Given the description of an element on the screen output the (x, y) to click on. 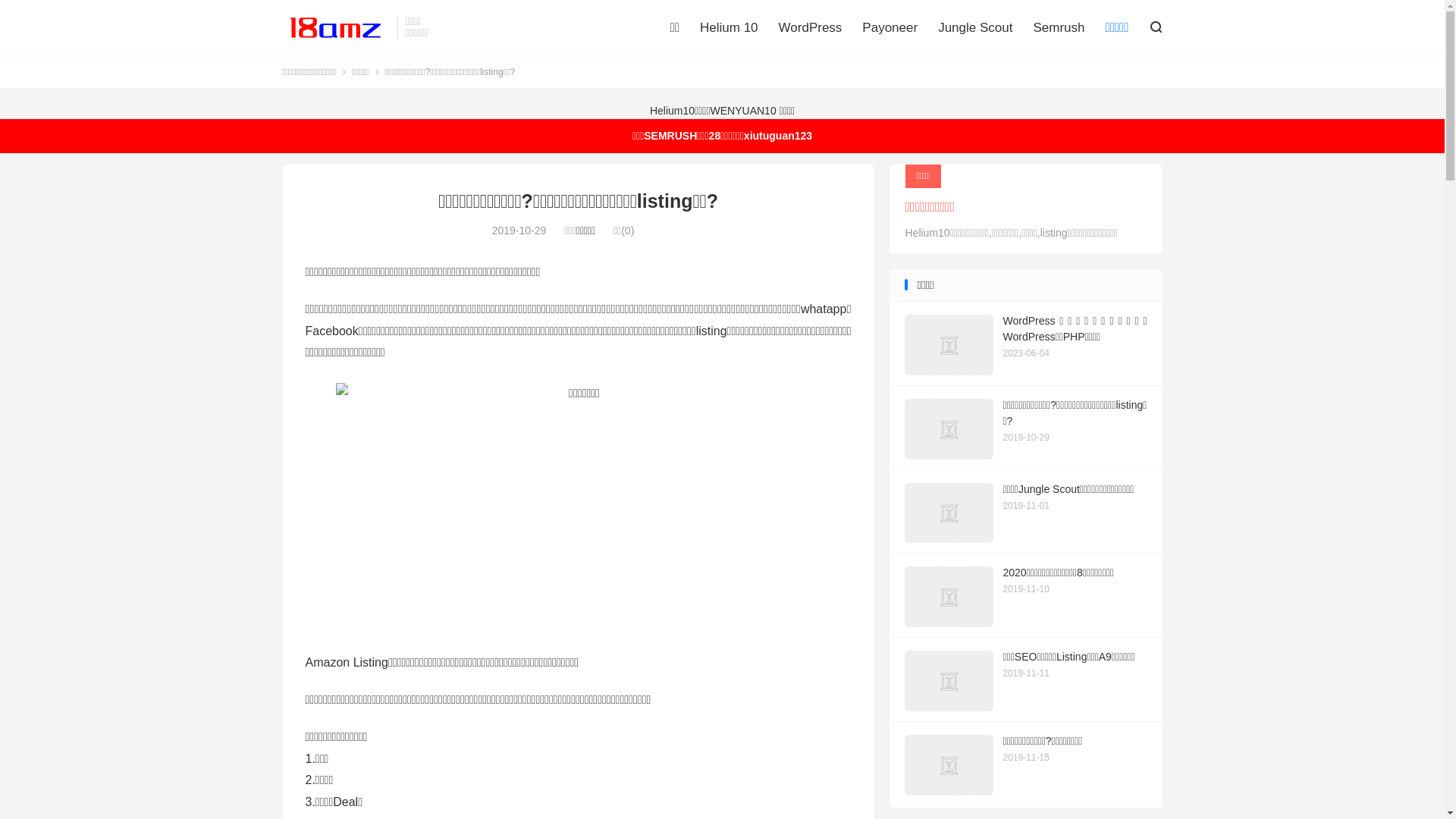
Jungle Scout Element type: text (975, 27)
WordPress Element type: text (810, 27)
Semrush Element type: text (1058, 27)
Payoneer Element type: text (889, 27)
Helium 10 Element type: text (728, 27)
